Given the description of an element on the screen output the (x, y) to click on. 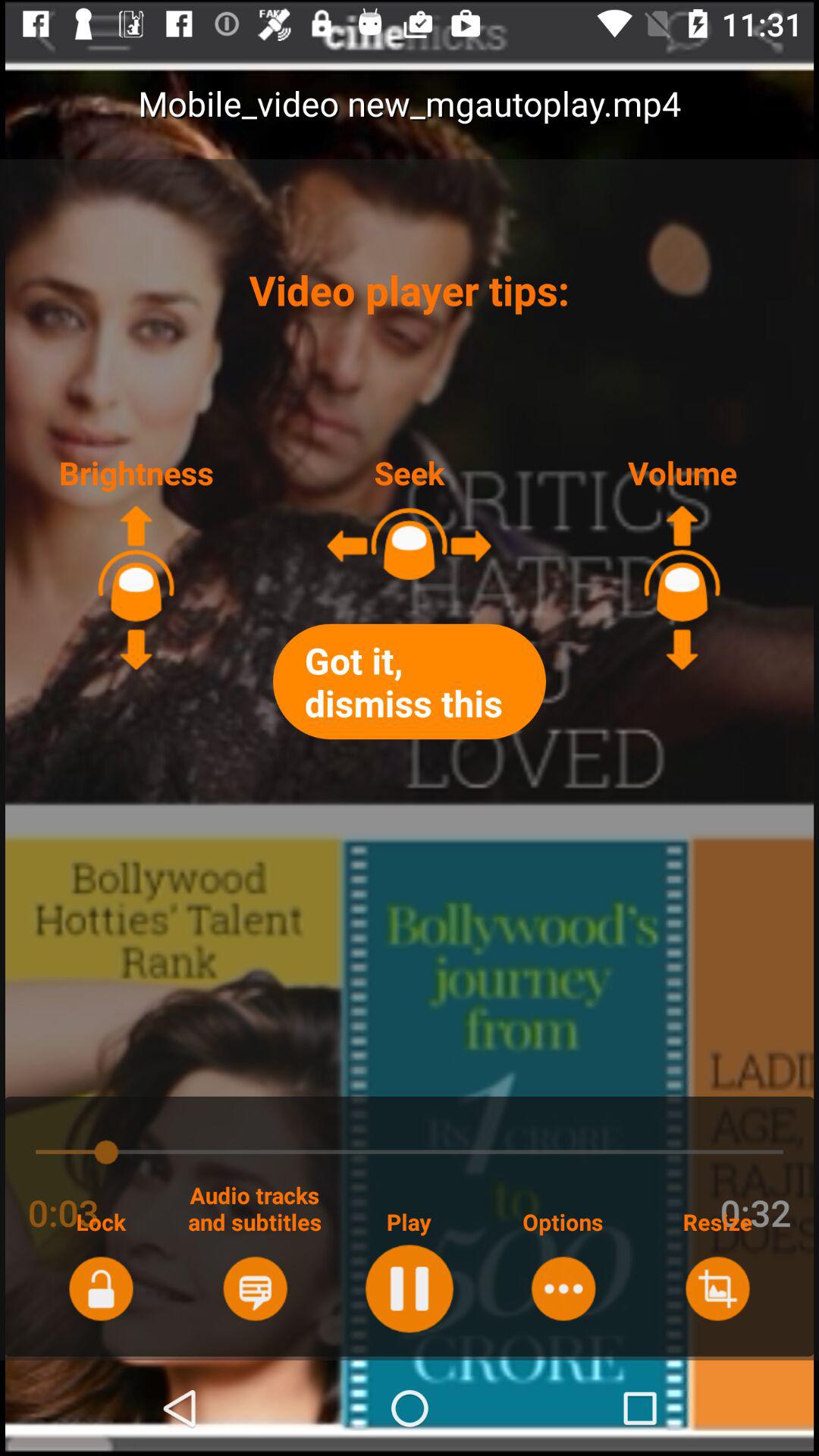
option (563, 1288)
